Given the description of an element on the screen output the (x, y) to click on. 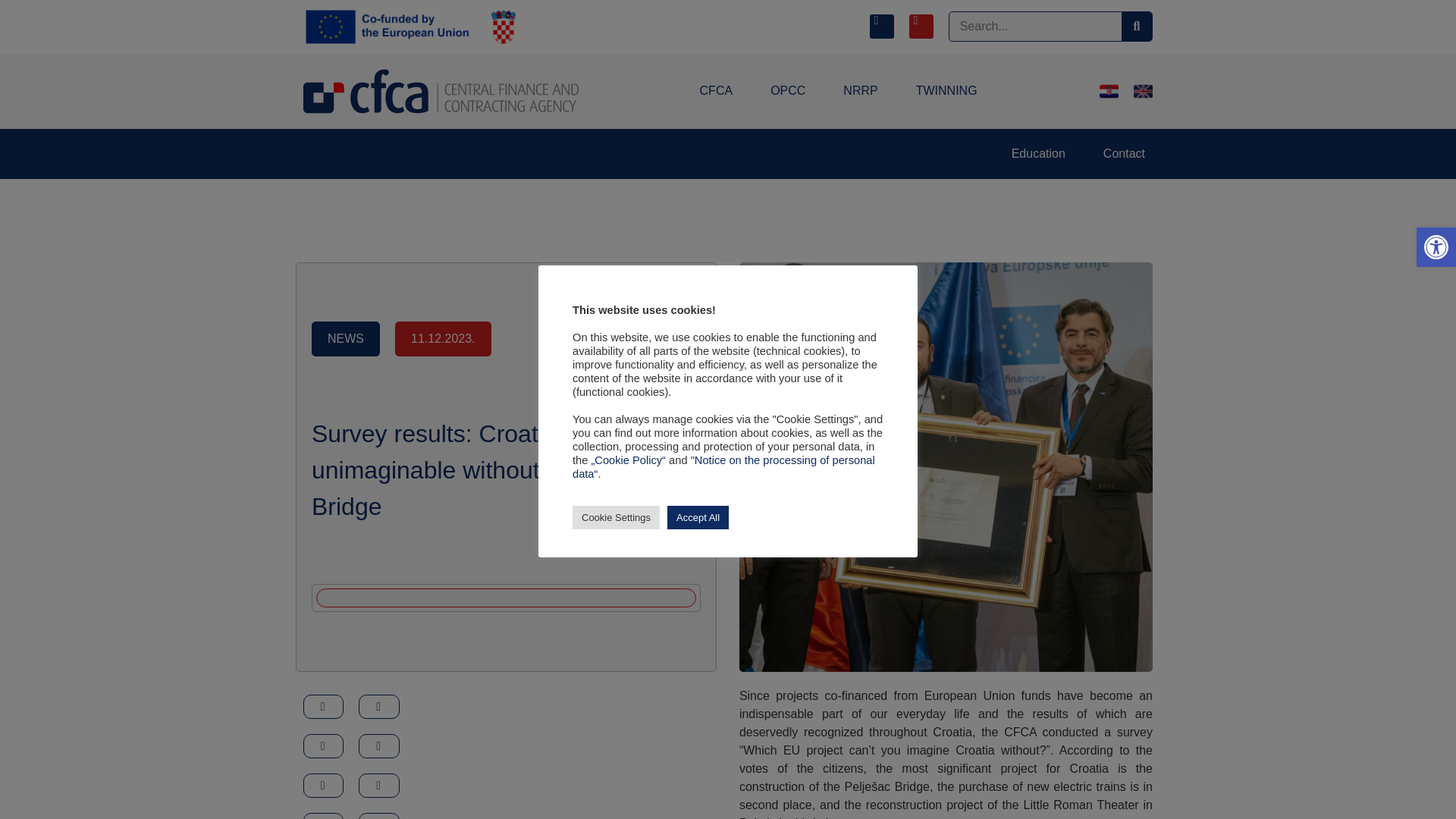
CFCA (716, 90)
TWINNING (1436, 246)
Accessibility Tools (946, 90)
OPCC (1435, 247)
Accessibility Tools (788, 90)
NRRP (1436, 246)
